Given the description of an element on the screen output the (x, y) to click on. 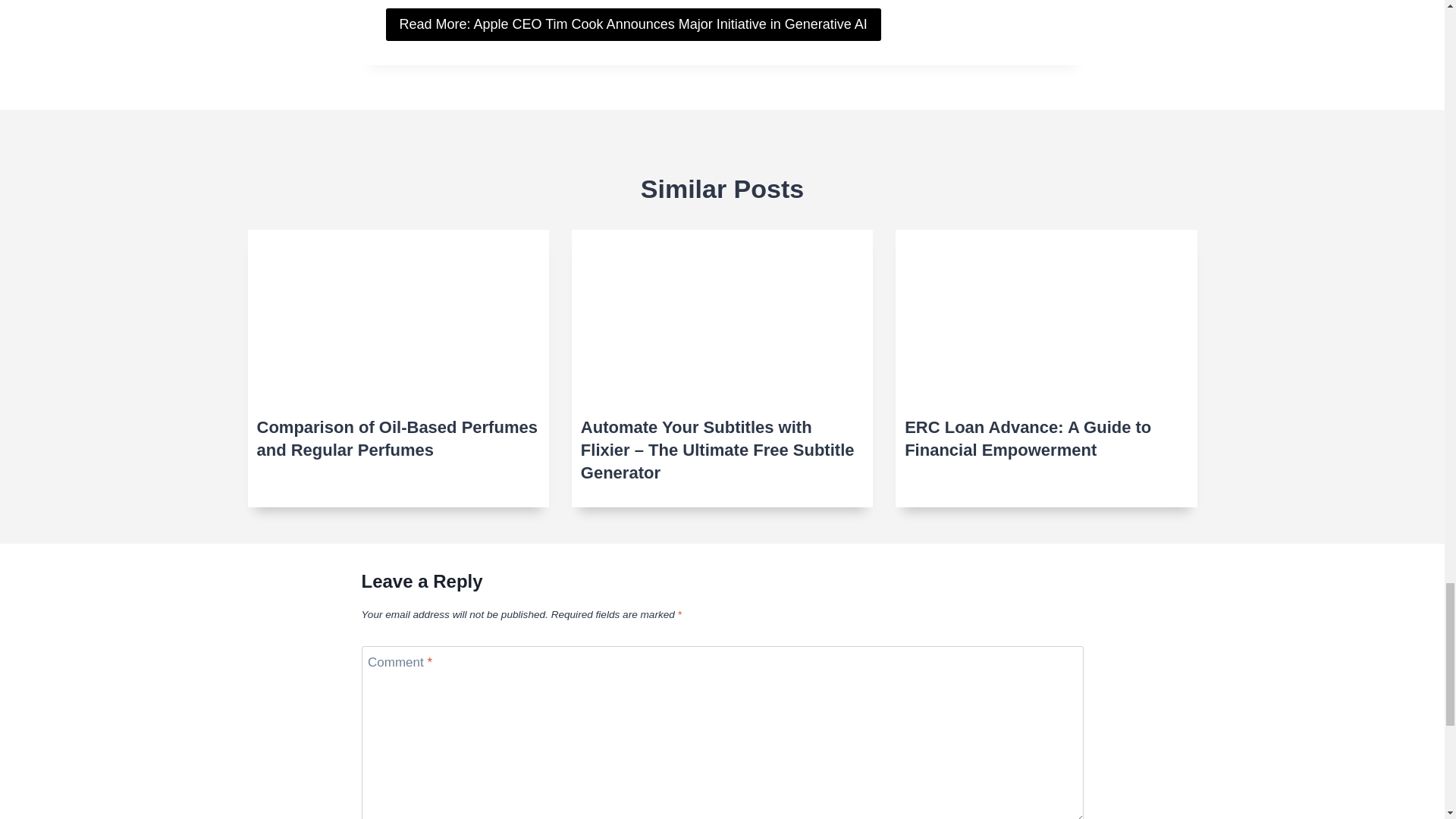
ERC Loan Advance: A Guide to Financial Empowerment (1046, 438)
Comparison of Oil-Based Perfumes and Regular Perfumes  (397, 438)
